Given the description of an element on the screen output the (x, y) to click on. 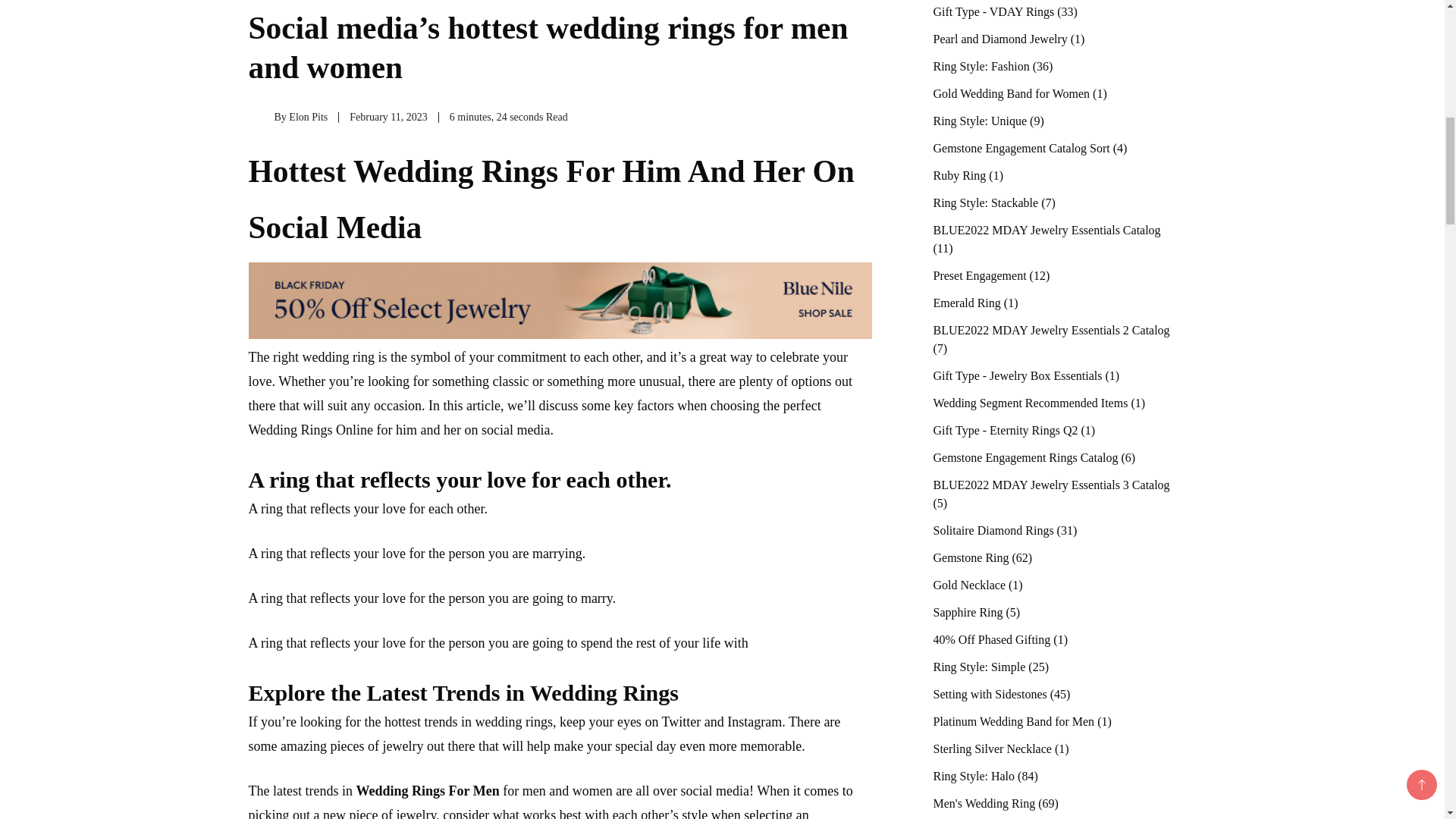
Wedding Rings Online (311, 429)
Wedding Rings For Men (427, 790)
February 11, 2023 (388, 116)
Elon Pits (307, 116)
